Given the description of an element on the screen output the (x, y) to click on. 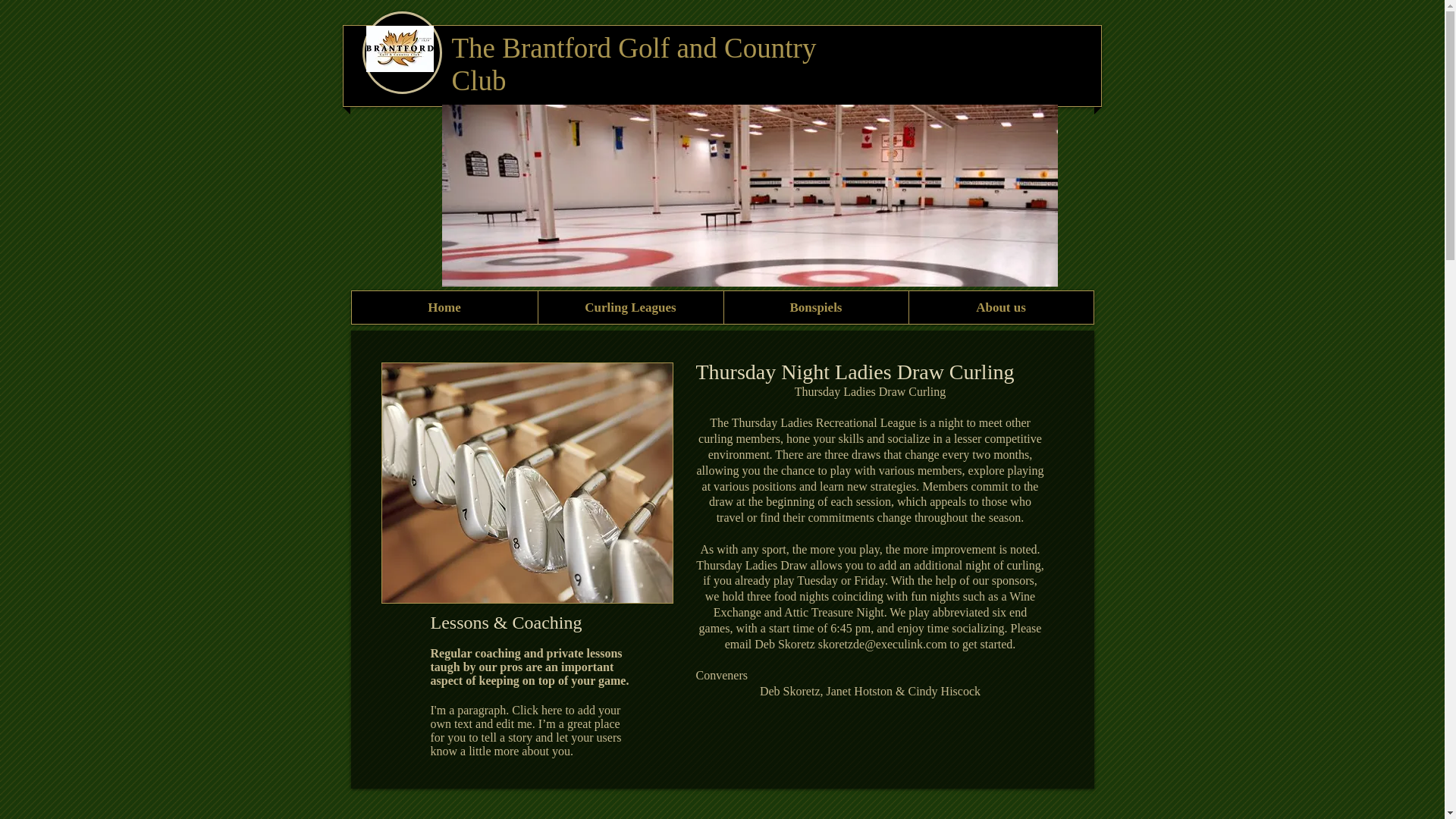
Home (444, 307)
About us (1000, 307)
Bonspiels (815, 307)
Curling Leagues (629, 307)
